Given the description of an element on the screen output the (x, y) to click on. 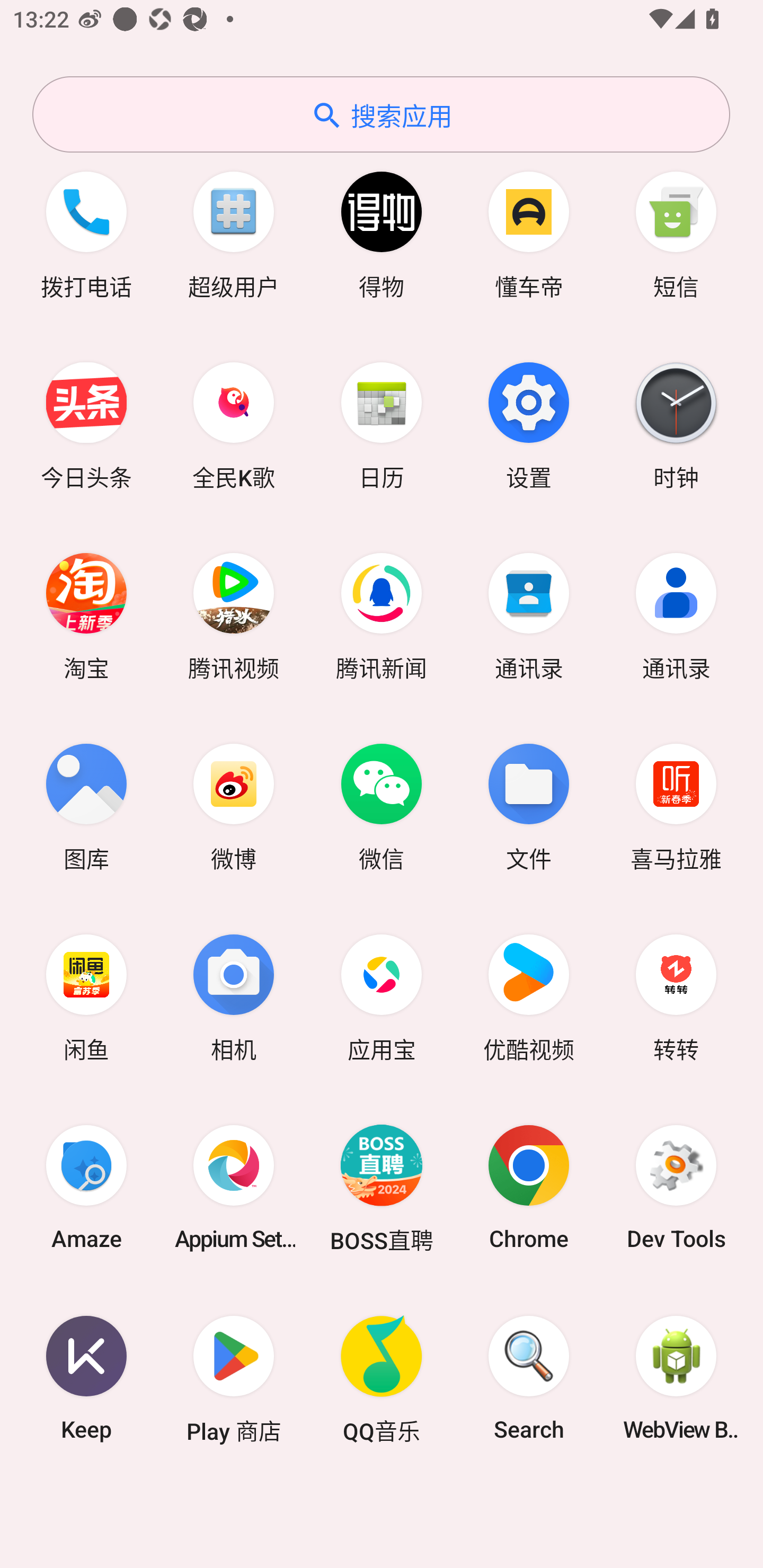
  搜索应用 (381, 114)
拨打电话 (86, 233)
超级用户 (233, 233)
得物 (381, 233)
懂车帝 (528, 233)
短信 (676, 233)
今日头条 (86, 424)
全民K歌 (233, 424)
日历 (381, 424)
设置 (528, 424)
时钟 (676, 424)
淘宝 (86, 614)
腾讯视频 (233, 614)
腾讯新闻 (381, 614)
通讯录 (528, 614)
通讯录 (676, 614)
图库 (86, 805)
微博 (233, 805)
微信 (381, 805)
文件 (528, 805)
喜马拉雅 (676, 805)
闲鱼 (86, 996)
相机 (233, 996)
应用宝 (381, 996)
优酷视频 (528, 996)
转转 (676, 996)
Amaze (86, 1186)
Appium Settings (233, 1186)
BOSS直聘 (381, 1186)
Chrome (528, 1186)
Dev Tools (676, 1186)
Keep (86, 1377)
Play 商店 (233, 1377)
QQ音乐 (381, 1377)
Search (528, 1377)
WebView Browser Tester (676, 1377)
